Given the description of an element on the screen output the (x, y) to click on. 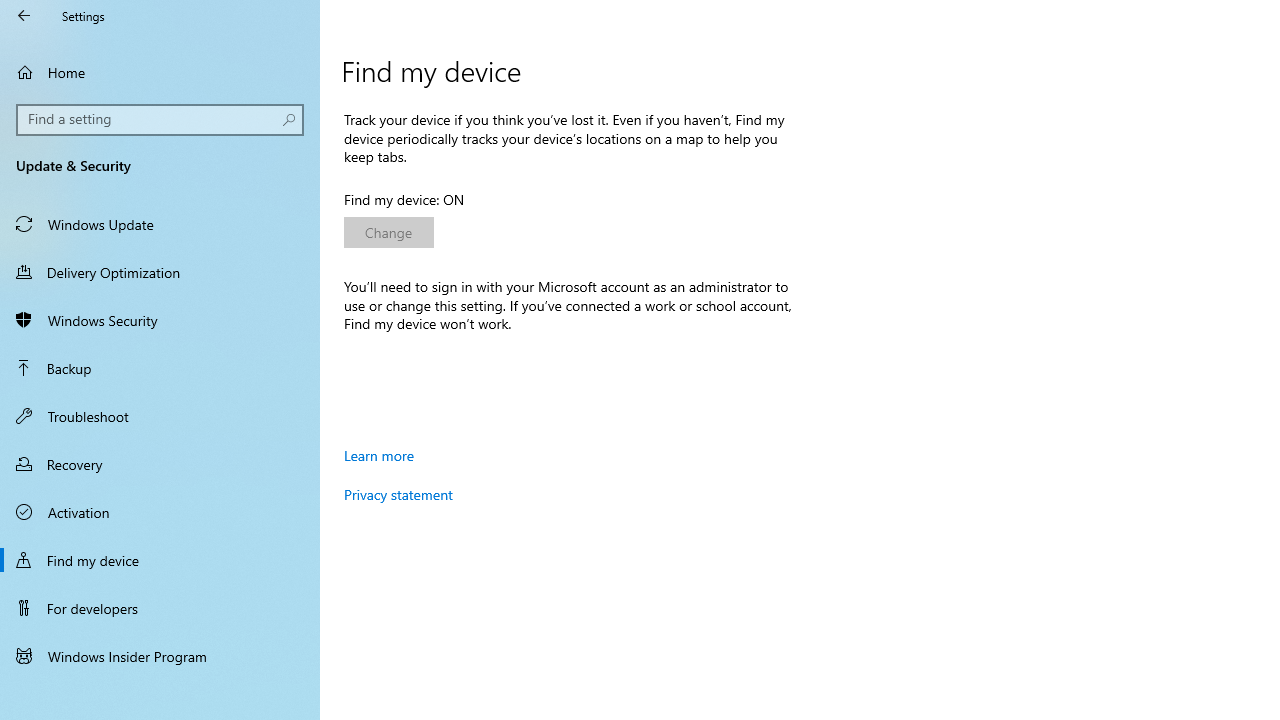
For developers (160, 607)
